Given the description of an element on the screen output the (x, y) to click on. 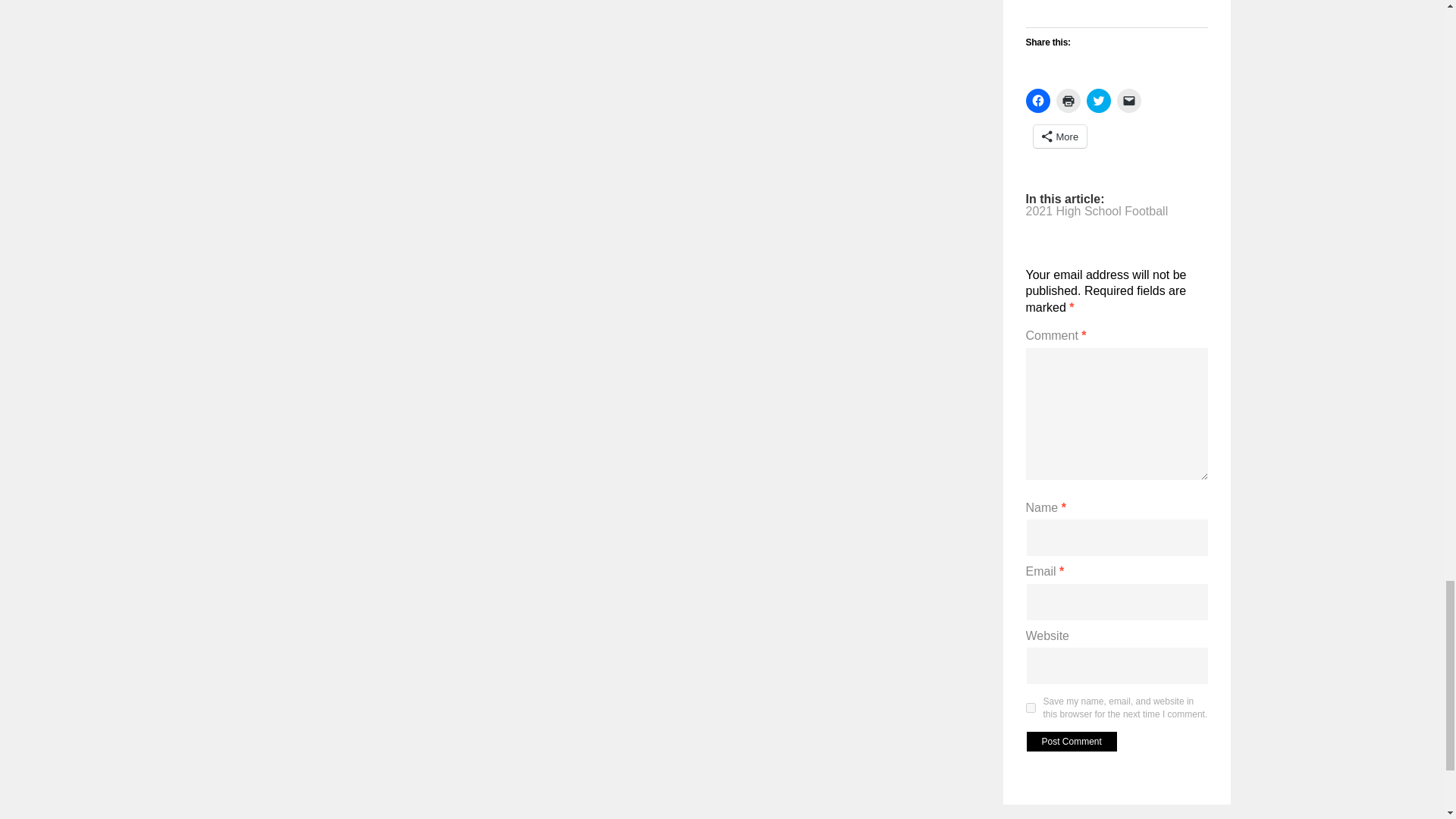
Post Comment (1071, 741)
